Given the description of an element on the screen output the (x, y) to click on. 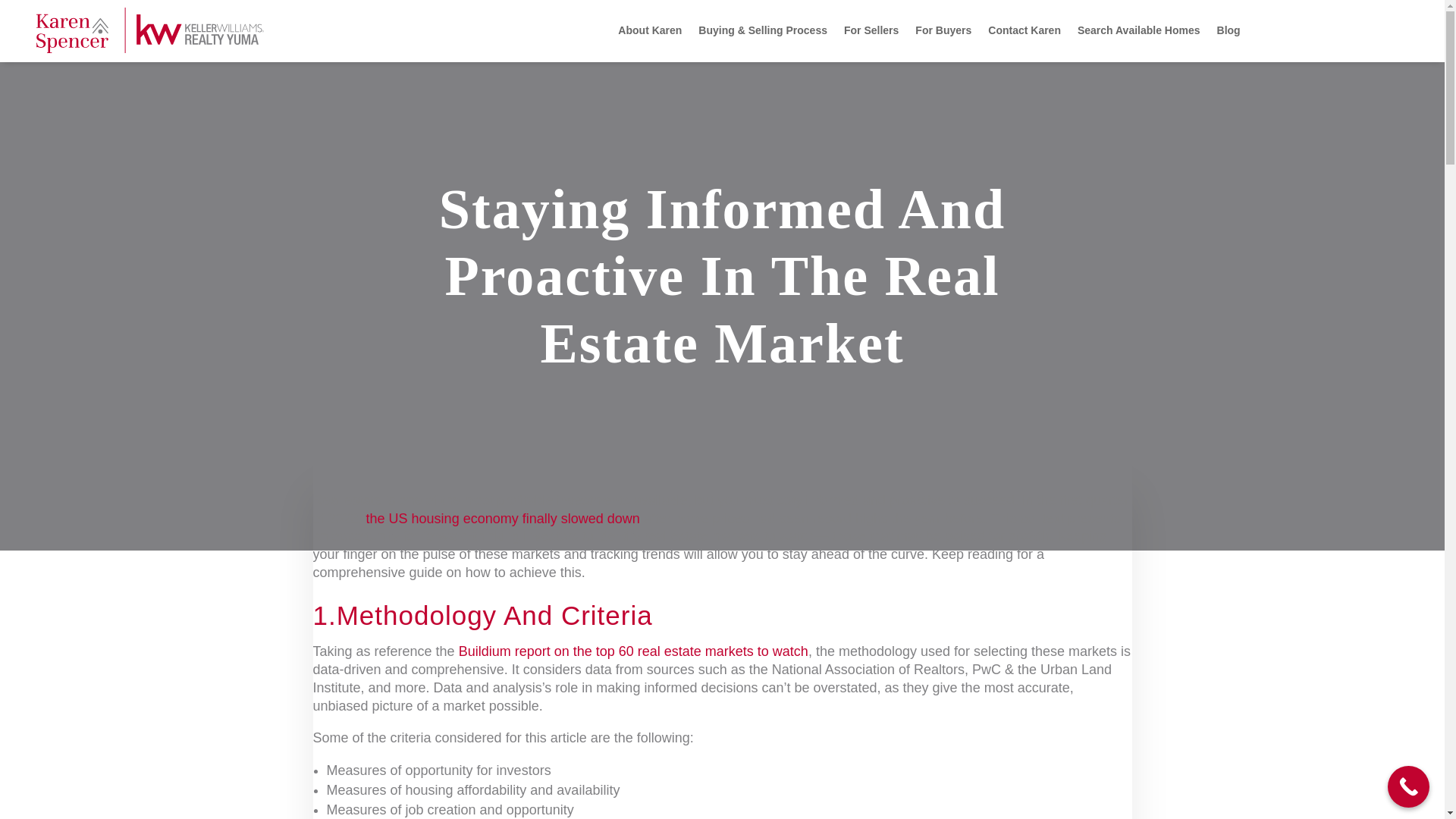
Contact Karen (1024, 29)
Buildium report on the top 60 real estate markets to watch (633, 651)
About Karen (649, 29)
the US housing economy finally slowed down (503, 518)
Search Available Homes (1138, 29)
Staying Informed And Proactive In The Real Estate Market (722, 275)
For Sellers (871, 29)
For Buyers (943, 29)
